Given the description of an element on the screen output the (x, y) to click on. 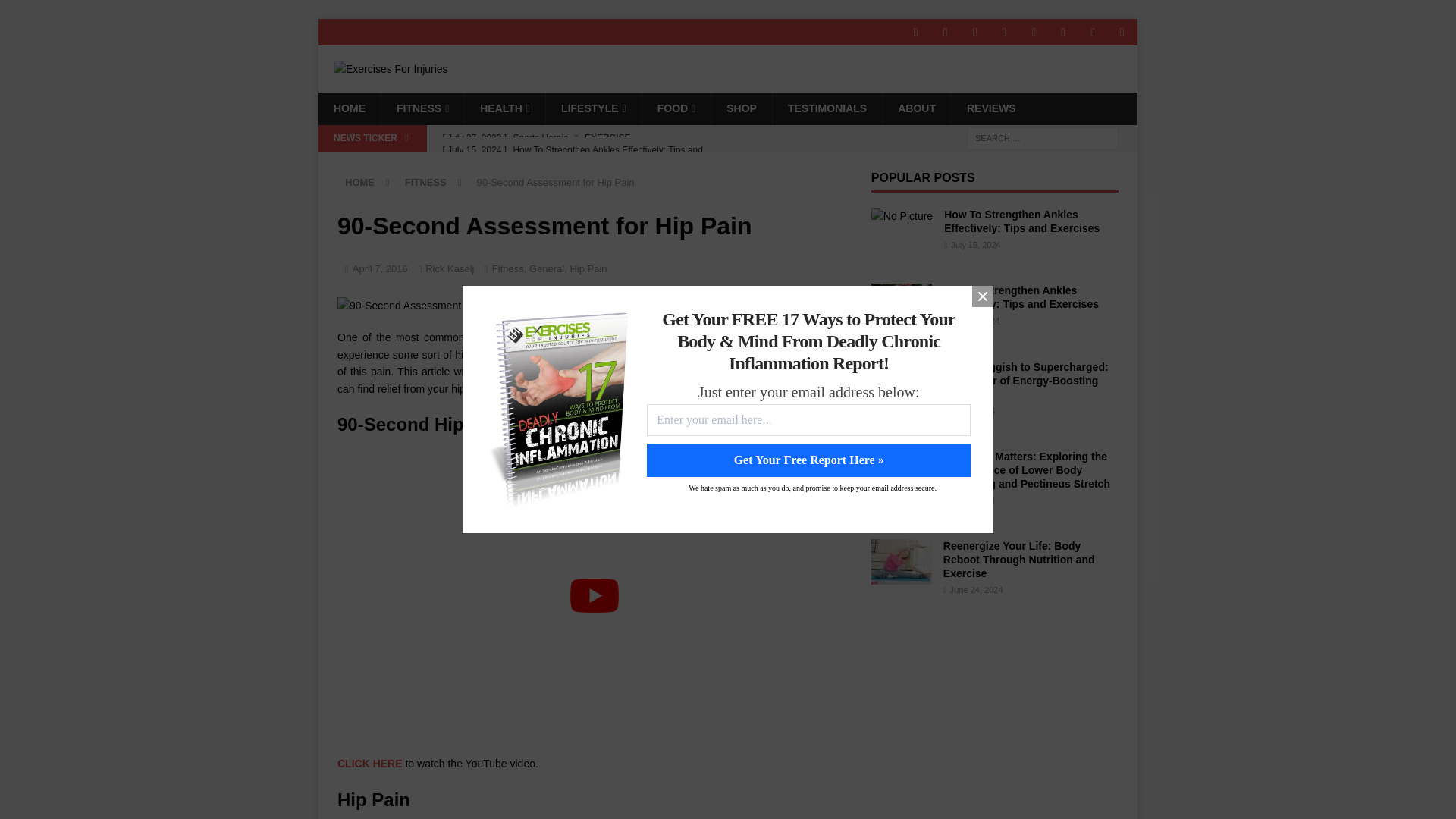
How To Strengthen Ankles Effectively: Tips and Exercises (900, 306)
90-Second Assessment for Hip Pain (428, 305)
How To Strengthen Ankles Effectively: Tips and Exercises (1021, 221)
Sports Hernia (587, 137)
How To Strengthen Ankles Effectively: Tips and Exercises (901, 216)
How To Strengthen Ankles Effectively: Tips and Exercises (587, 162)
